Given the description of an element on the screen output the (x, y) to click on. 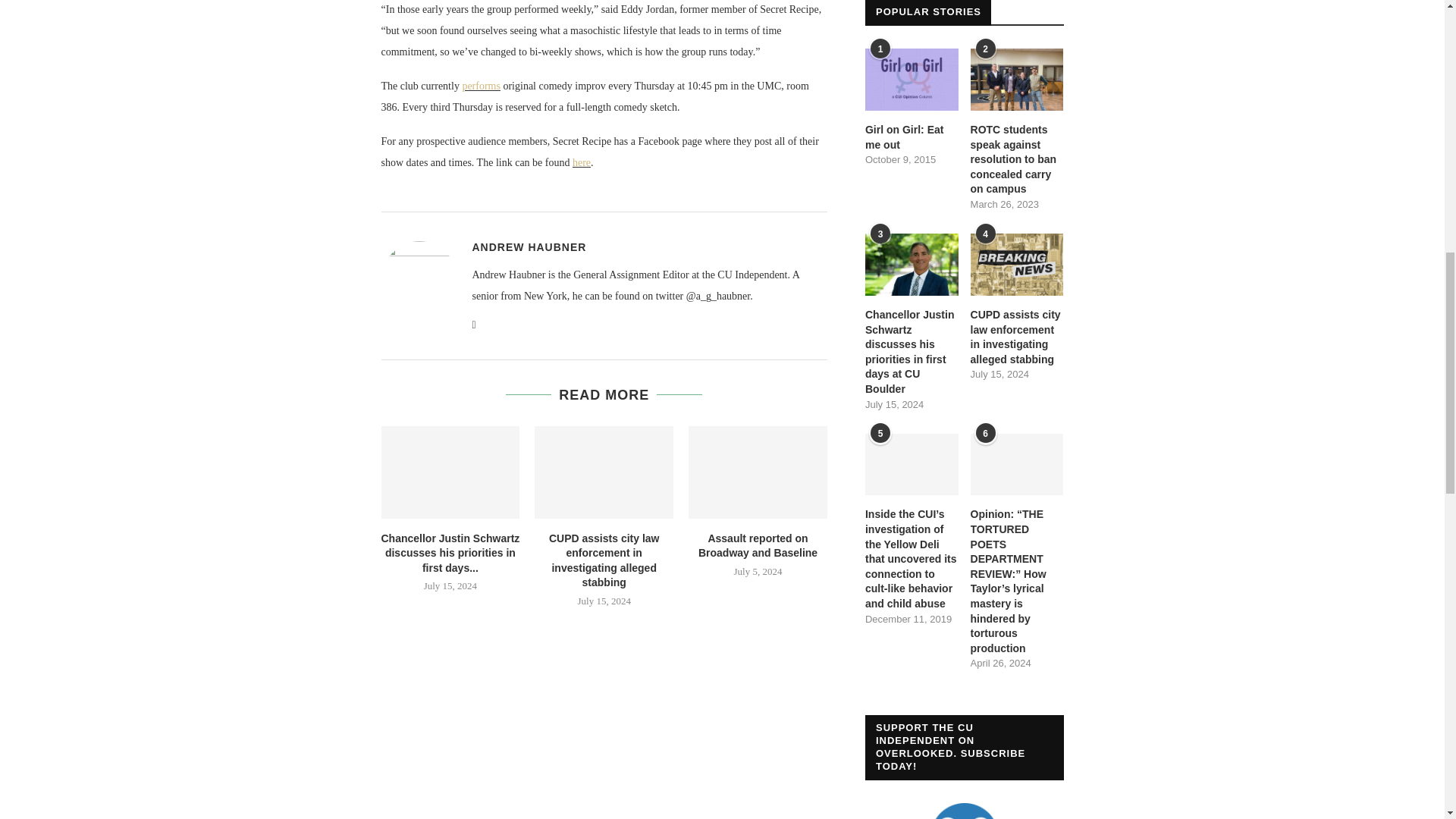
Girl on Girl: Eat me out (911, 137)
Girl on Girl: Eat me out (911, 79)
Posts by Andrew Haubner (528, 246)
Assault reported on Broadway and Baseline (757, 471)
